Given the description of an element on the screen output the (x, y) to click on. 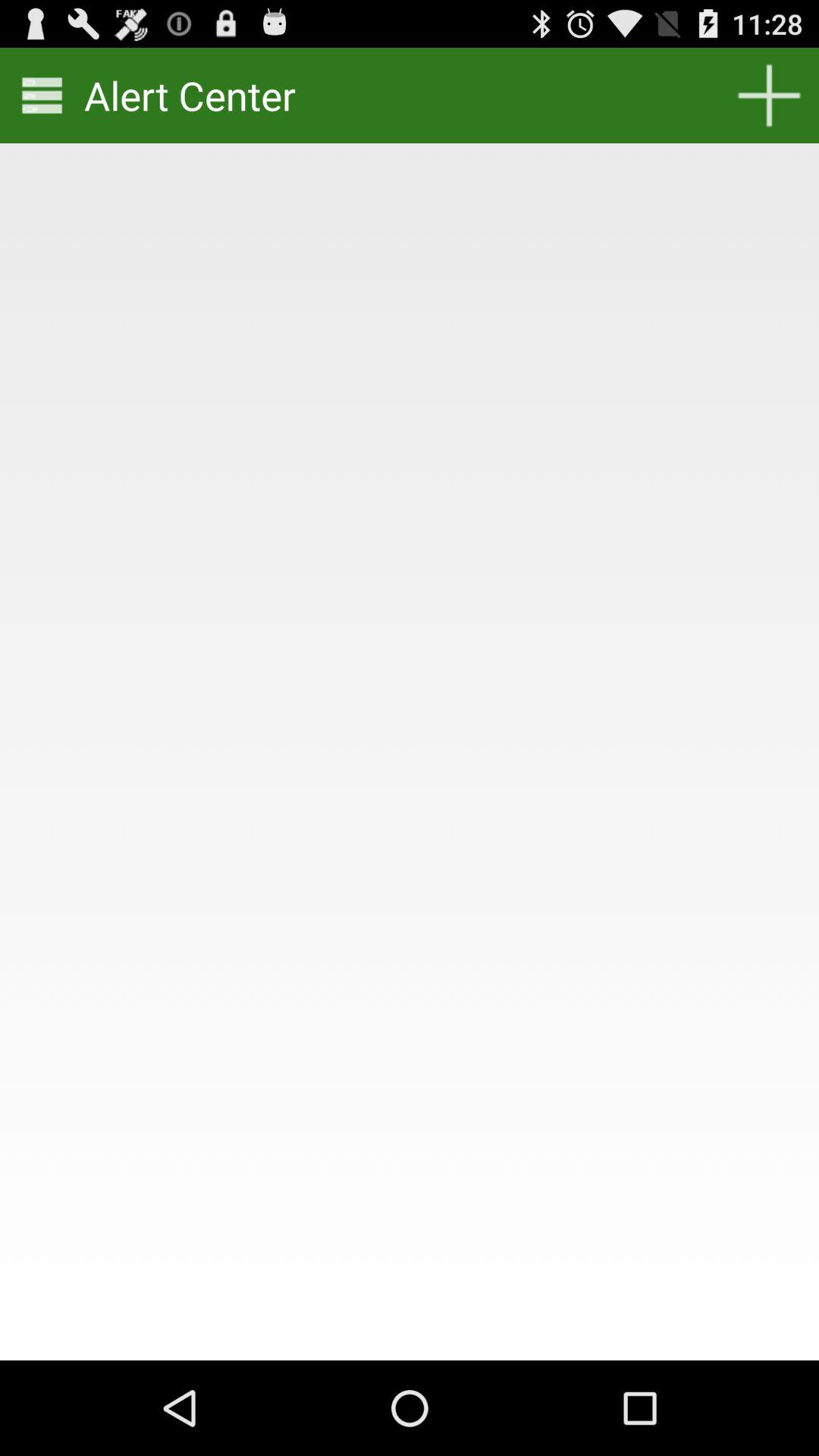
add stock to watch (769, 95)
